Given the description of an element on the screen output the (x, y) to click on. 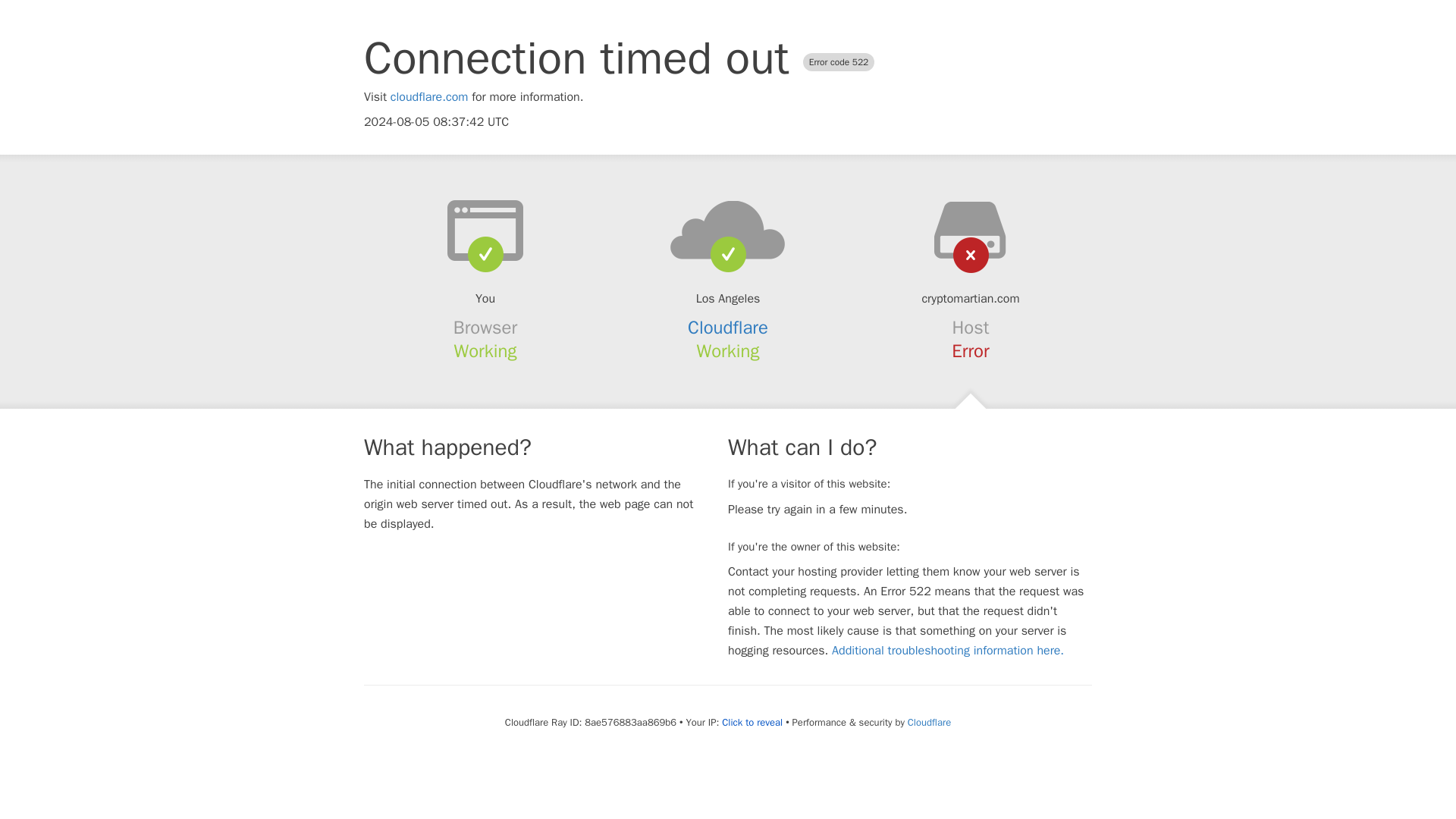
cloudflare.com (429, 96)
Cloudflare (727, 327)
Additional troubleshooting information here. (947, 650)
Click to reveal (752, 722)
Cloudflare (928, 721)
